Given the description of an element on the screen output the (x, y) to click on. 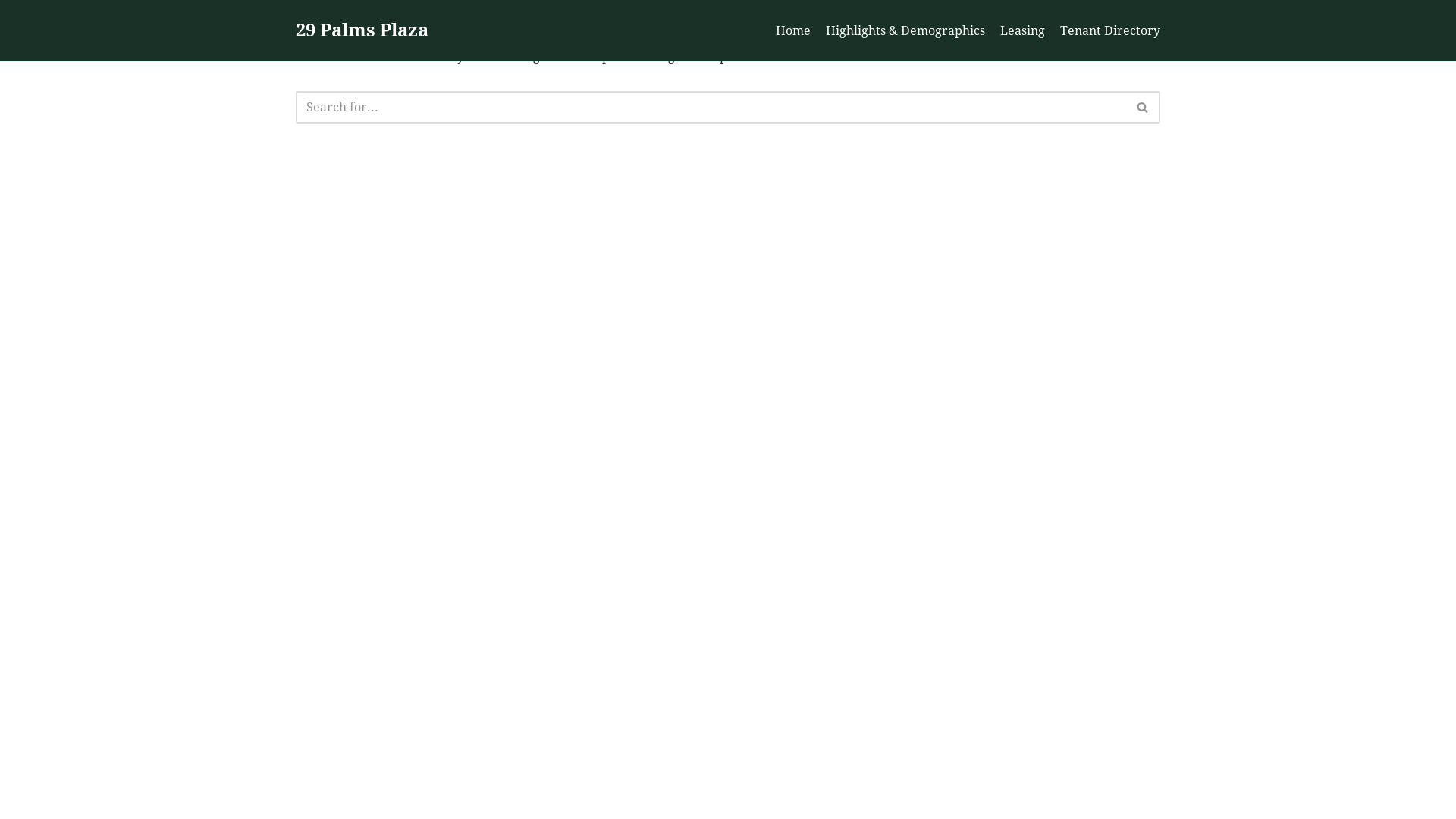
29 Palms Plaza Element type: text (361, 30)
WordPress Element type: text (442, 797)
Neve Element type: text (310, 797)
Skip to content Element type: text (11, 31)
Tenant Directory Element type: text (1110, 30)
Highlights & Demographics Element type: text (905, 30)
Leasing Element type: text (1022, 30)
Home Element type: text (792, 30)
